Given the description of an element on the screen output the (x, y) to click on. 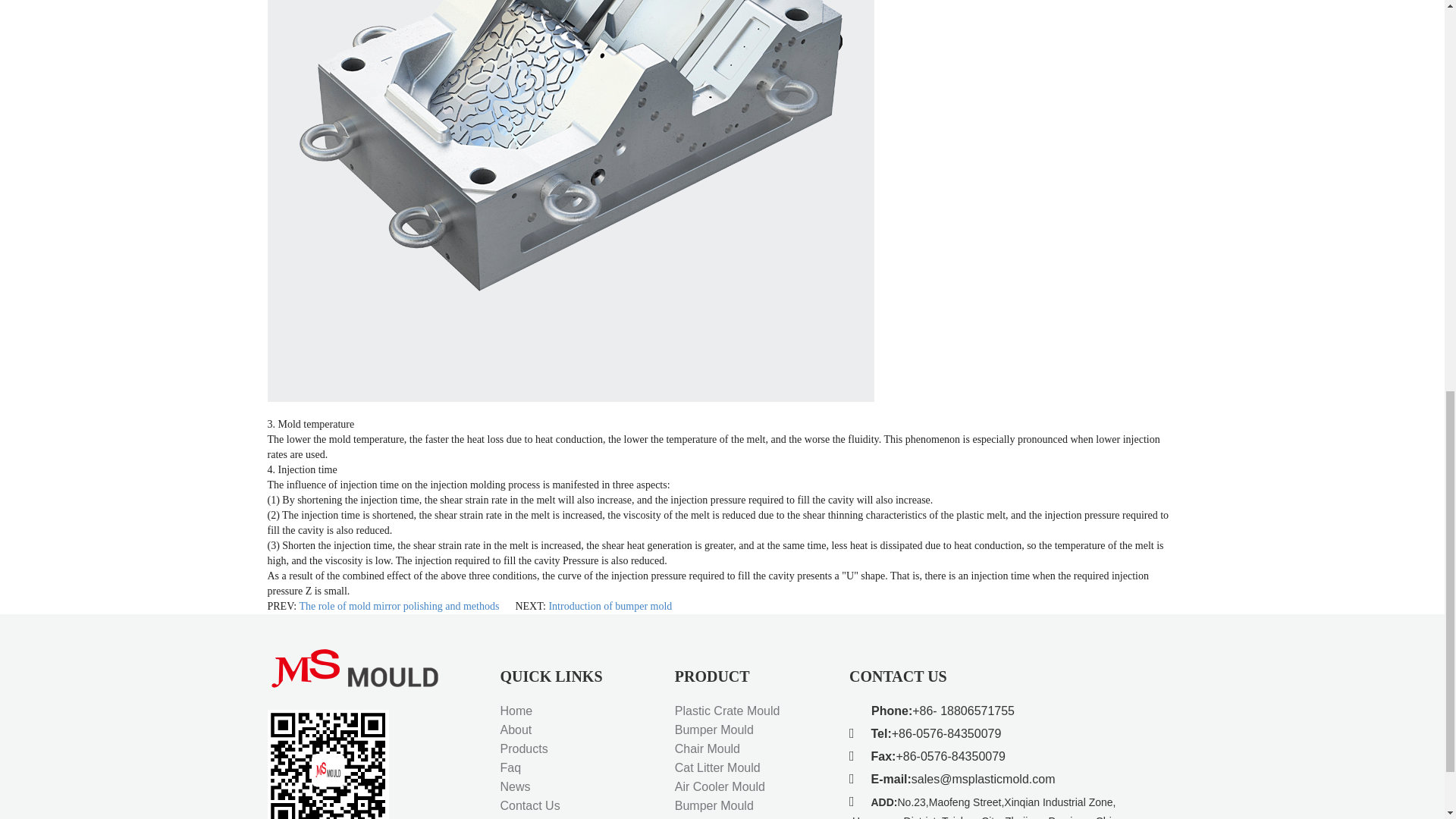
About (516, 729)
Home (516, 710)
News (515, 786)
Cat Litter Mould (717, 767)
Introduction of bumper mold (609, 605)
The role of mold mirror polishing and methods (398, 605)
Plastic Crate Mould (727, 710)
Chair Mould (707, 748)
Faq (510, 767)
Products (524, 748)
Contact Us (530, 805)
Bumper Mould (714, 729)
